Given the description of an element on the screen output the (x, y) to click on. 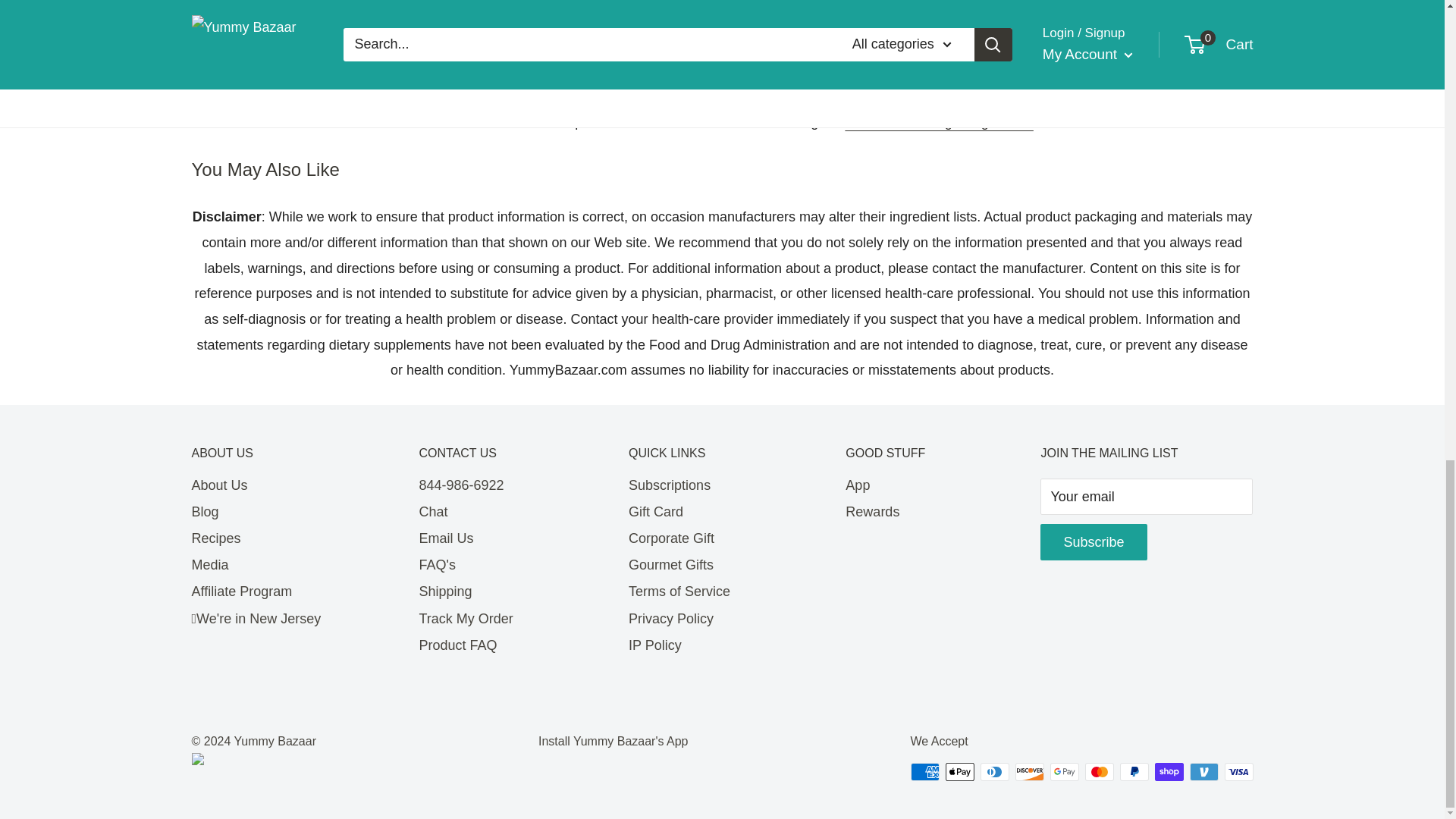
Recipes (277, 538)
About Us (277, 485)
Blog (277, 511)
ABOUT US (277, 453)
Media (277, 565)
